Given the description of an element on the screen output the (x, y) to click on. 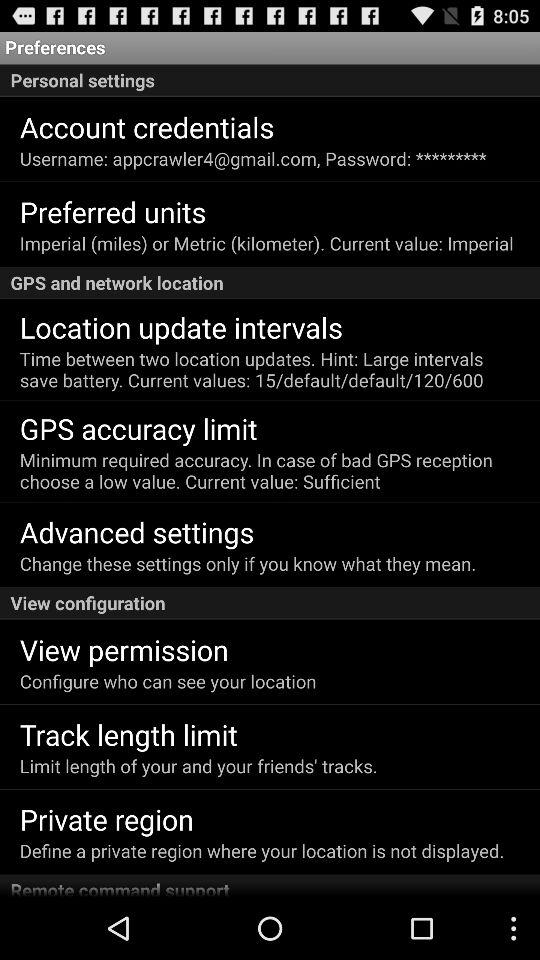
flip to configure who can item (167, 680)
